Given the description of an element on the screen output the (x, y) to click on. 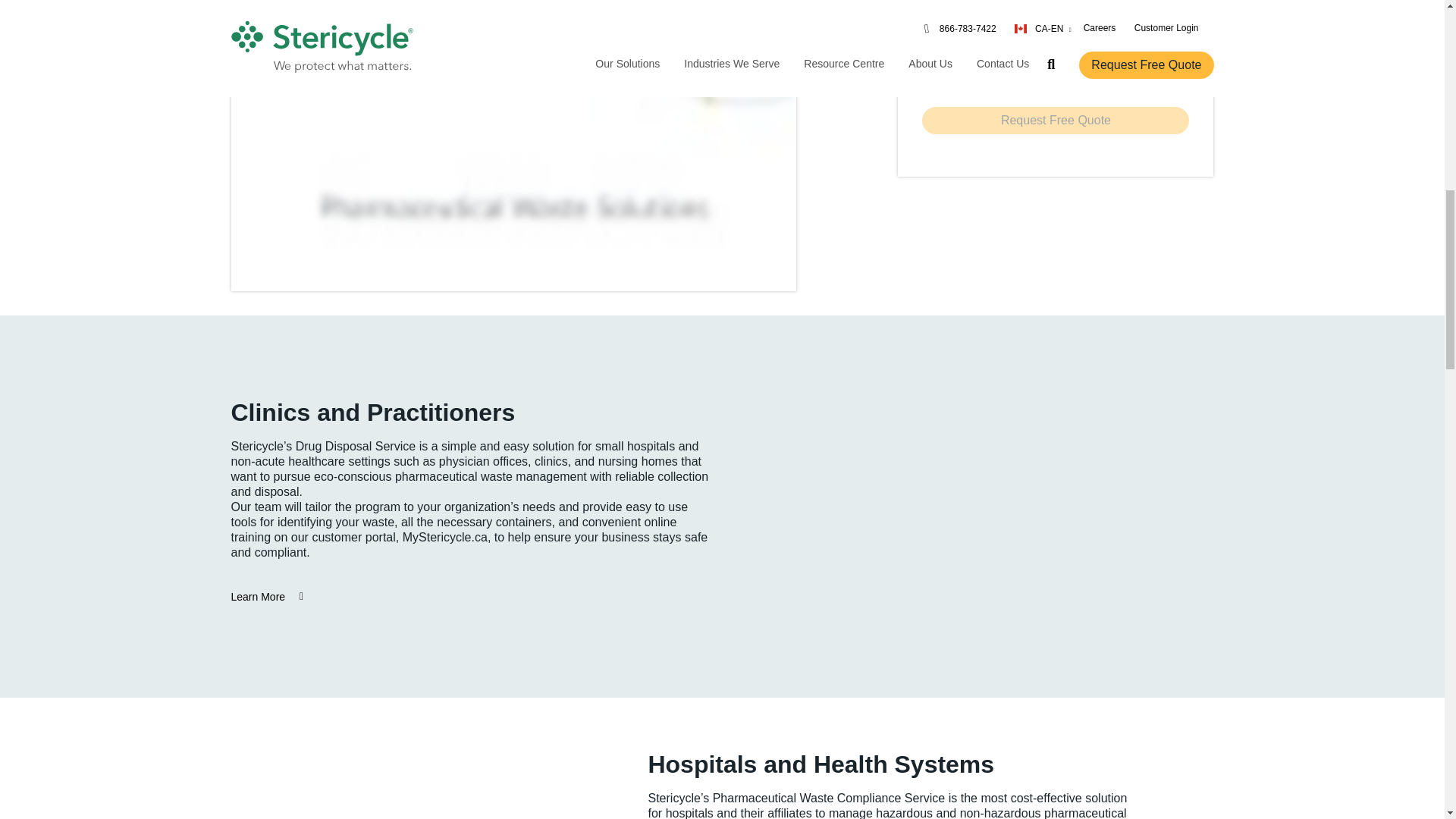
Request Free Quote (1055, 120)
